Given the description of an element on the screen output the (x, y) to click on. 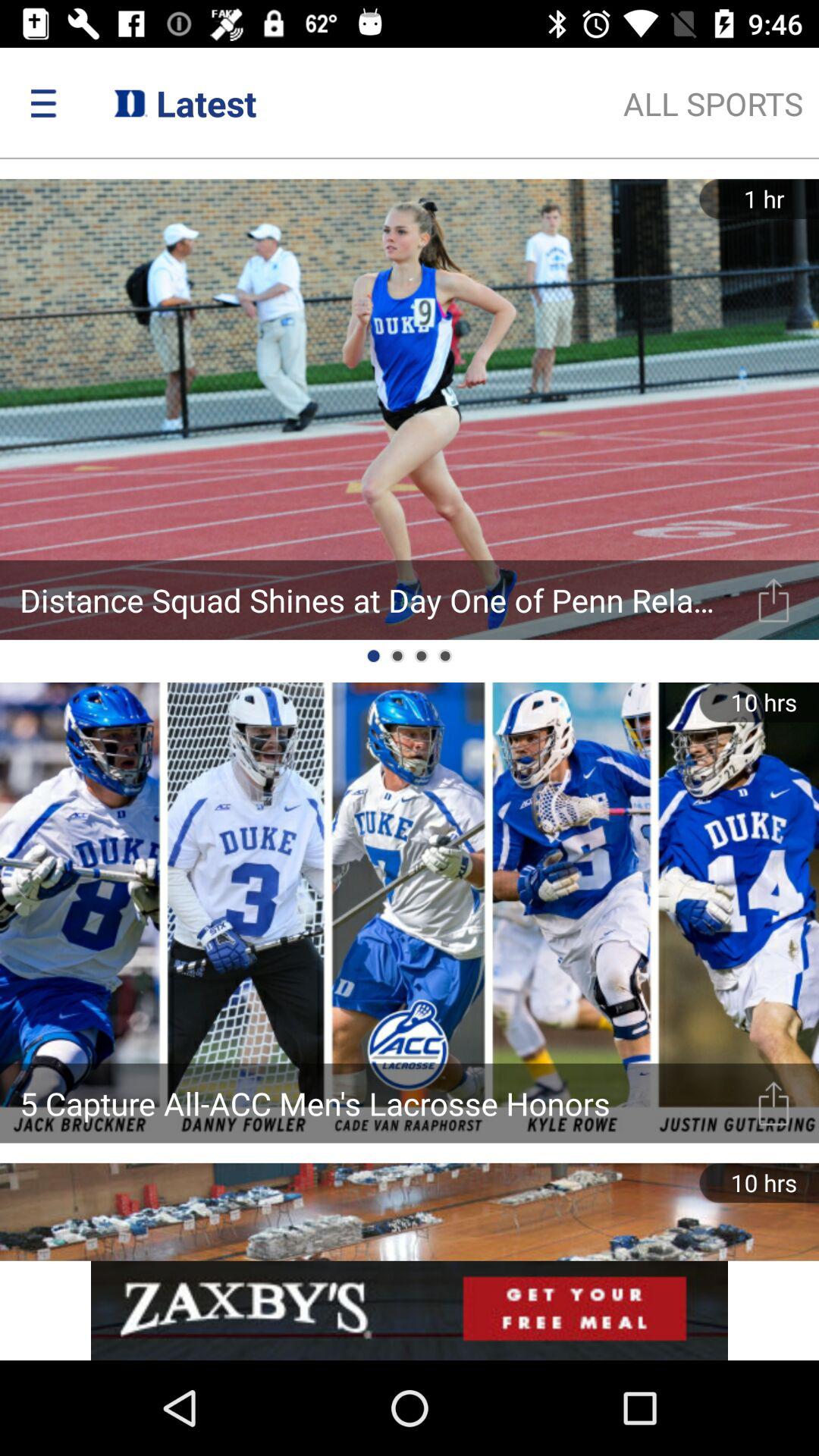
go to advertisement (409, 1310)
